Given the description of an element on the screen output the (x, y) to click on. 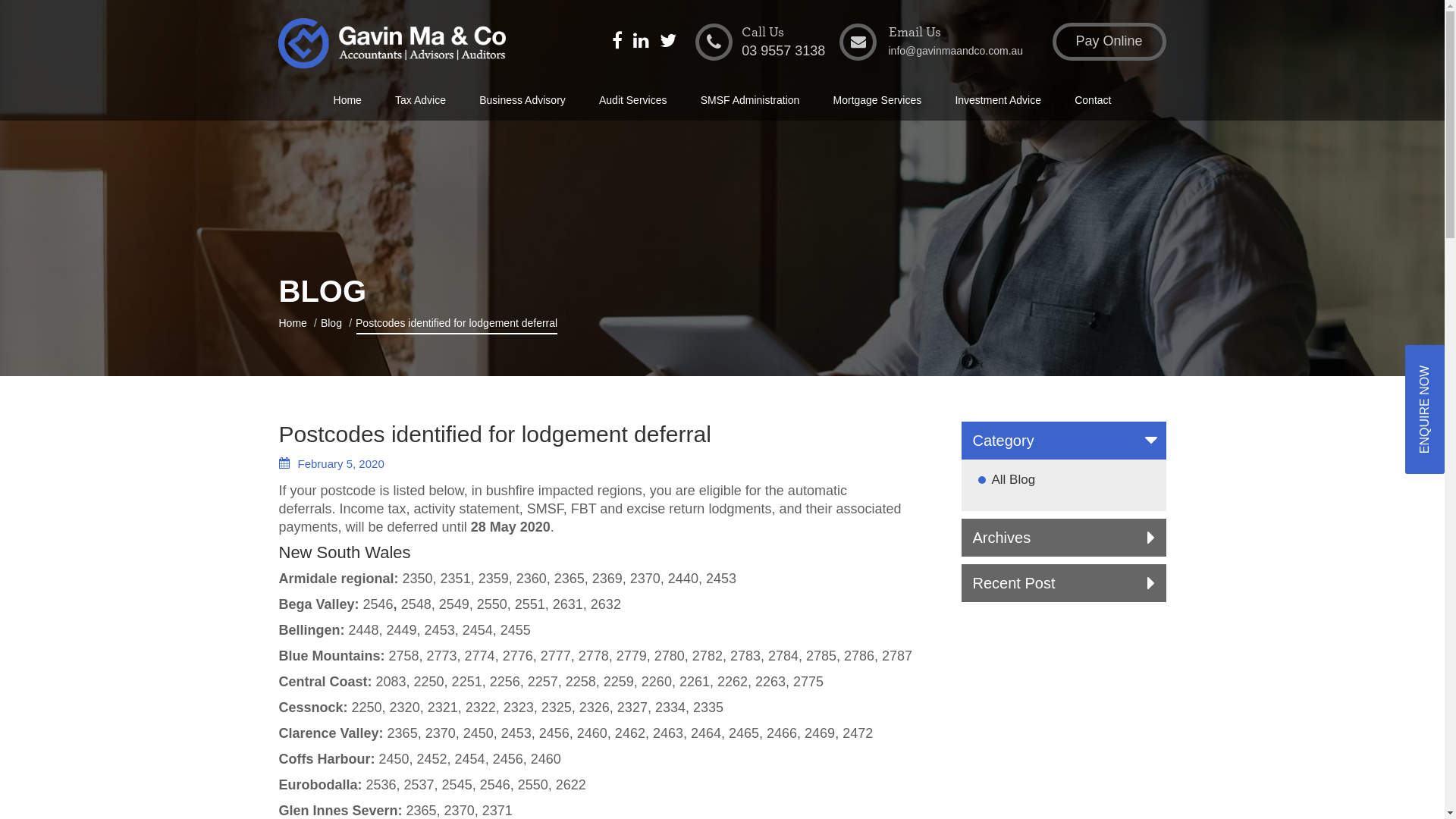
Email Us
info@gavinmaandco.com.au Element type: text (930, 41)
Mortgage Services Element type: text (877, 103)
Business Advisory Element type: text (522, 103)
Category Element type: text (1063, 440)
Call Us
03 9557 3138 Element type: text (760, 41)
Recent Post Element type: text (1063, 583)
Blog Element type: text (331, 322)
SMSF Administration Element type: text (750, 103)
All Blog Element type: text (1013, 479)
SMSF Setup, SMSF Audit - Gavin Ma & Co Element type: hover (390, 43)
inner-banner Element type: hover (722, 188)
Investment Advice Element type: text (997, 103)
Contact Element type: text (1092, 103)
Tax Advice Element type: text (420, 103)
LinkedIn Element type: hover (641, 42)
Home Element type: text (293, 322)
Archives Element type: text (1063, 537)
Facebook Element type: hover (616, 42)
Audit Services Element type: text (632, 103)
Pay Online Element type: text (1109, 41)
Twitter Element type: hover (667, 42)
Home Element type: text (347, 103)
